Given the description of an element on the screen output the (x, y) to click on. 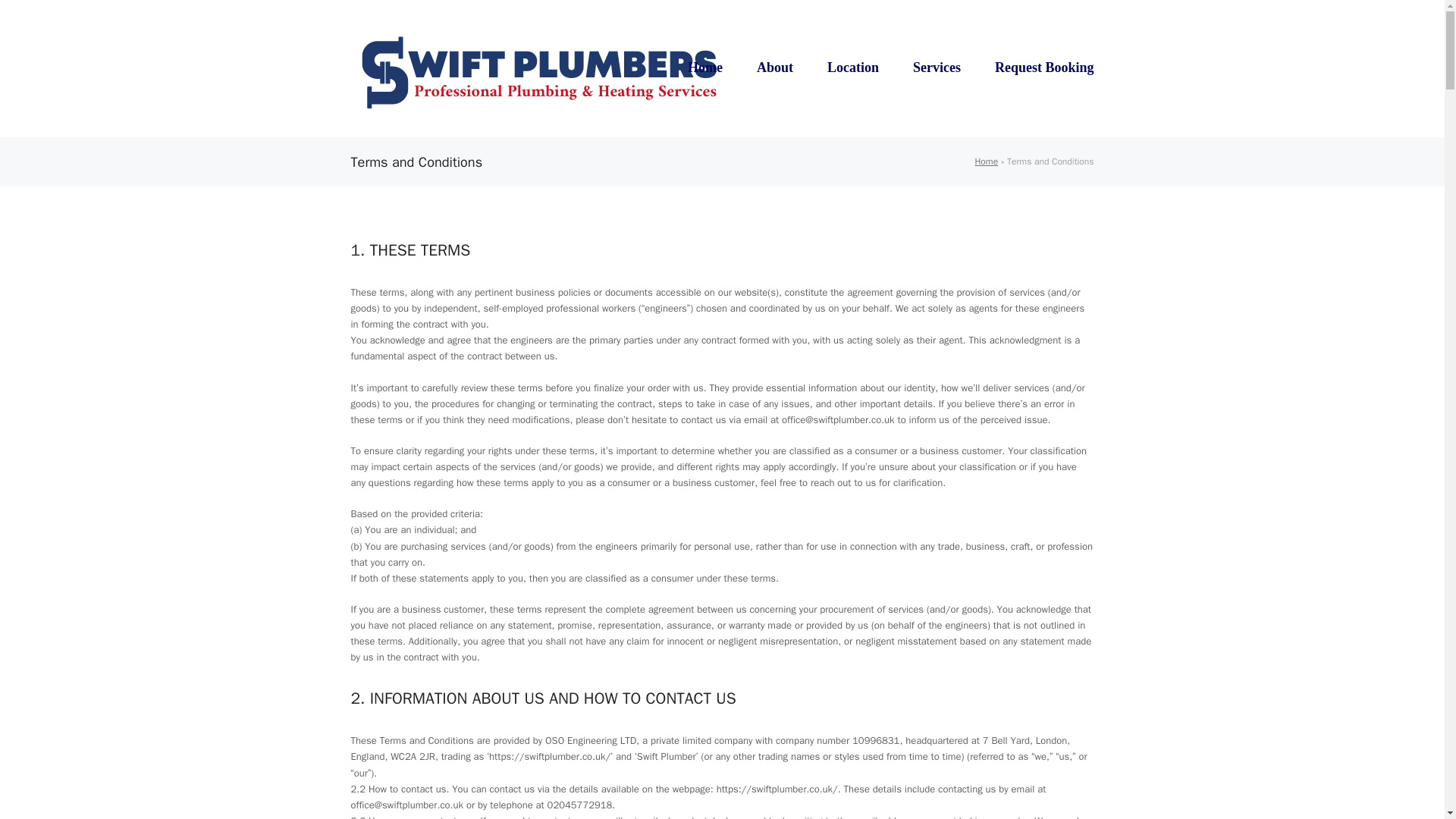
Request Booking (1044, 68)
Home (705, 68)
About (775, 68)
Services (936, 68)
Location (852, 68)
